Given the description of an element on the screen output the (x, y) to click on. 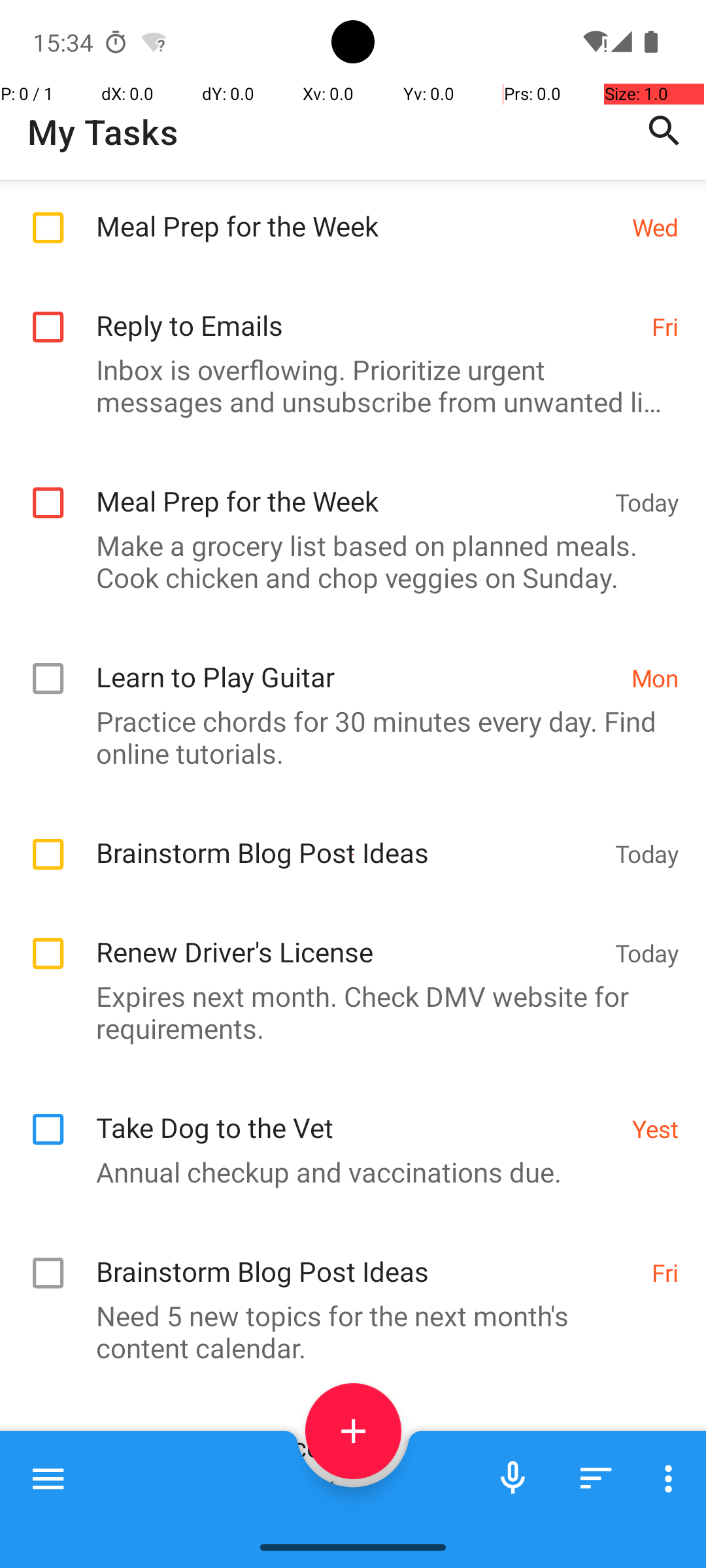
Update website content Element type: android.widget.TextView (350, 1432)
Double-check details. Element type: android.widget.TextView (346, 1490)
